Given the description of an element on the screen output the (x, y) to click on. 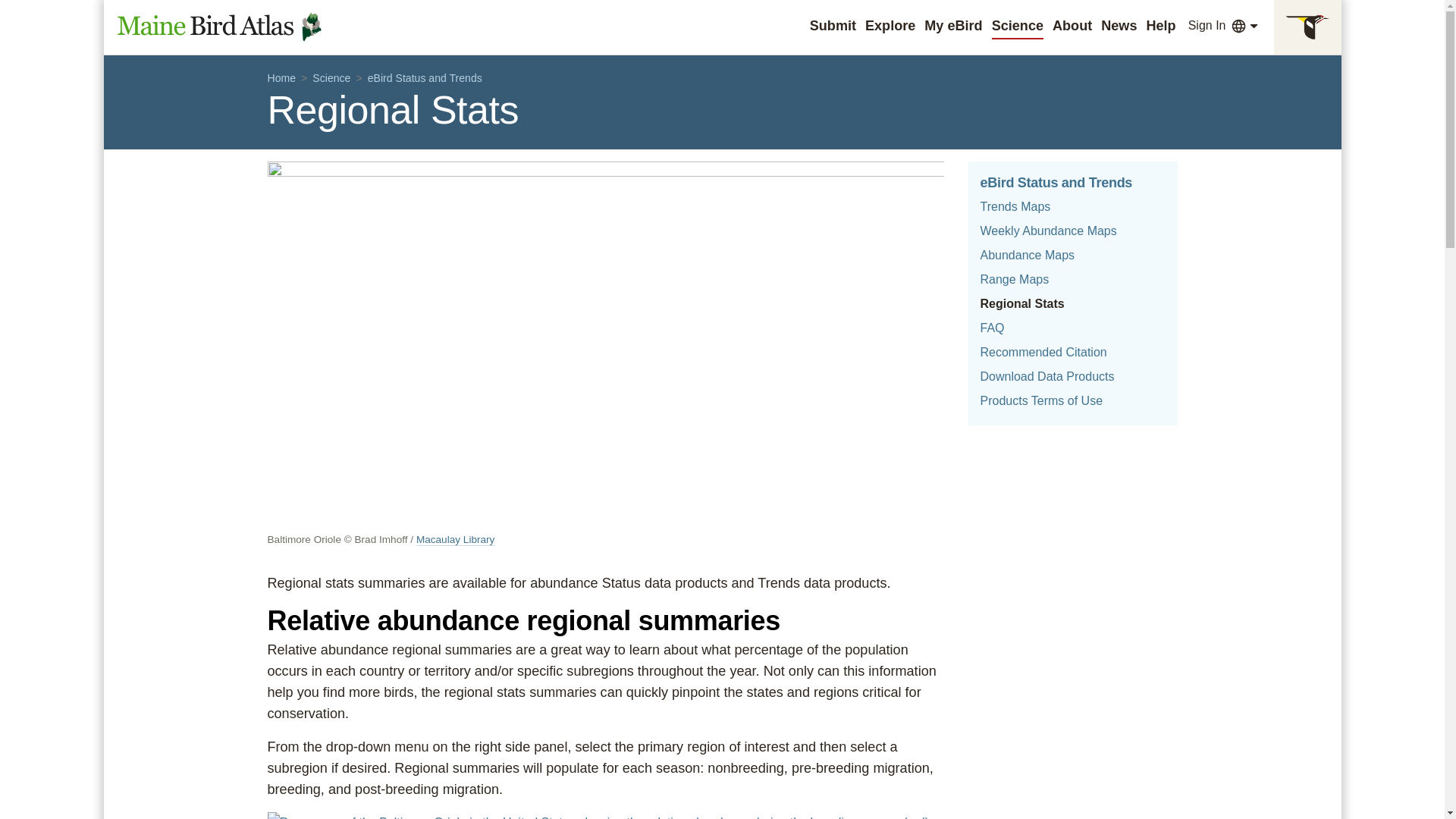
Abundance Maps (1026, 254)
Macaulay Library (455, 539)
Explore (889, 26)
About (1072, 26)
eBird Status and Trends (424, 77)
My eBird (952, 26)
Home (280, 77)
Help (1159, 26)
Trends Maps (1014, 205)
Submit (832, 26)
Sign In (1206, 26)
Science (1017, 26)
Science (331, 77)
eBird Status and Trends (1055, 182)
